Given the description of an element on the screen output the (x, y) to click on. 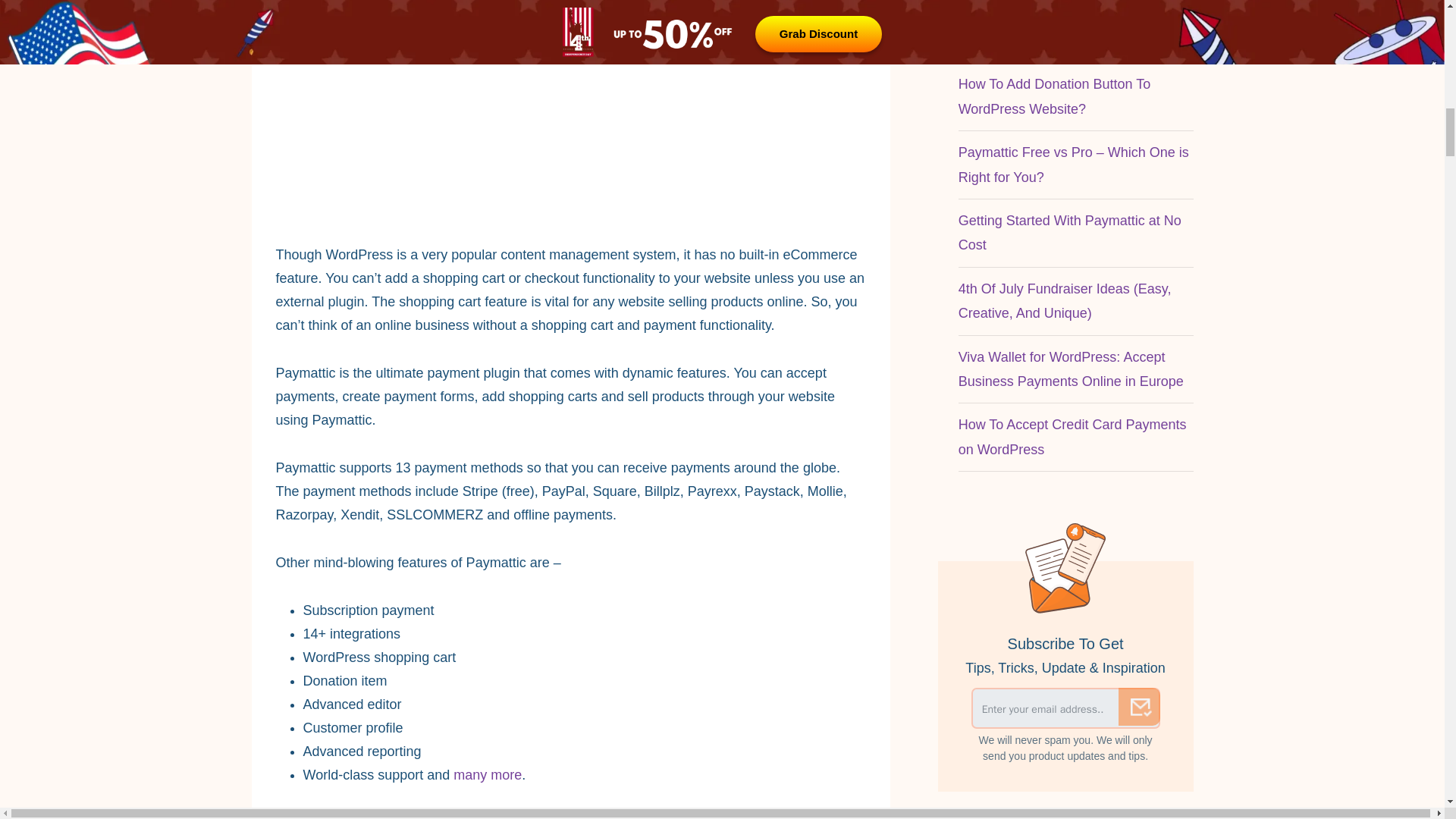
many more (486, 774)
